Given the description of an element on the screen output the (x, y) to click on. 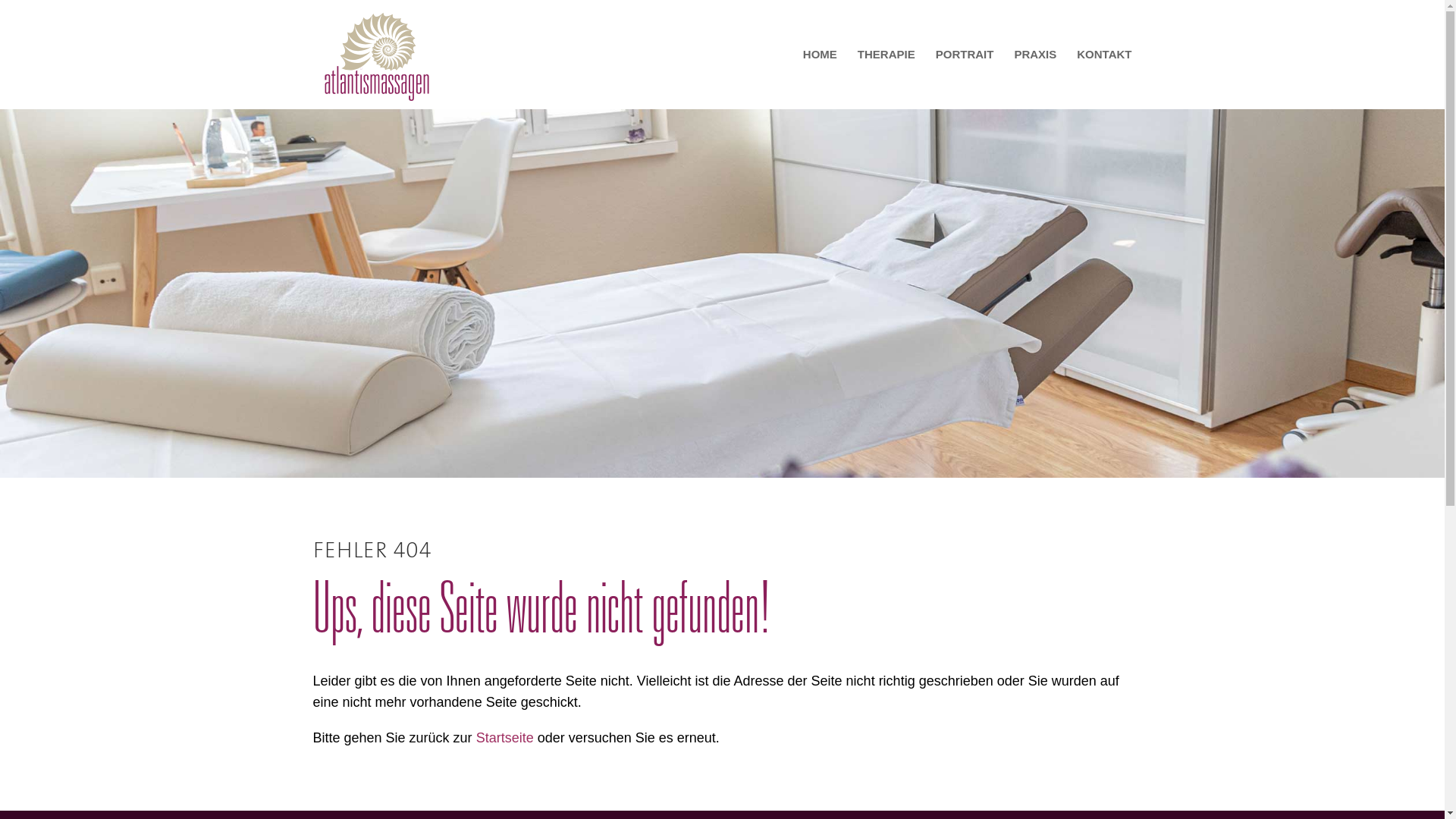
PRAXIS Element type: text (1034, 79)
KONTAKT Element type: text (1103, 79)
HOME Element type: text (820, 79)
Startseite Element type: text (504, 737)
THERAPIE Element type: text (886, 79)
PORTRAIT Element type: text (964, 79)
